Given the description of an element on the screen output the (x, y) to click on. 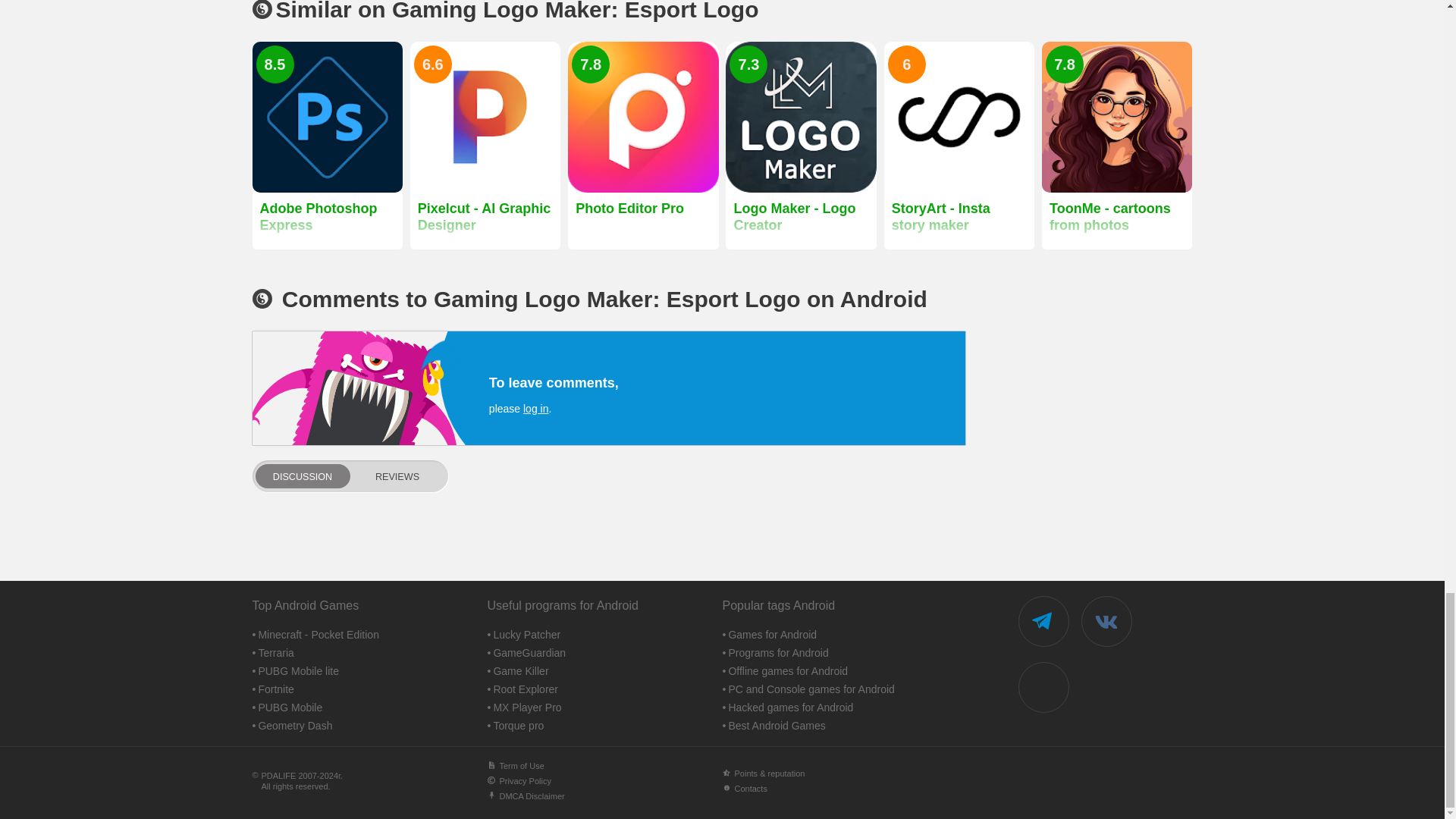
Telegram (1042, 621)
Vkontakte (1106, 621)
